Given the description of an element on the screen output the (x, y) to click on. 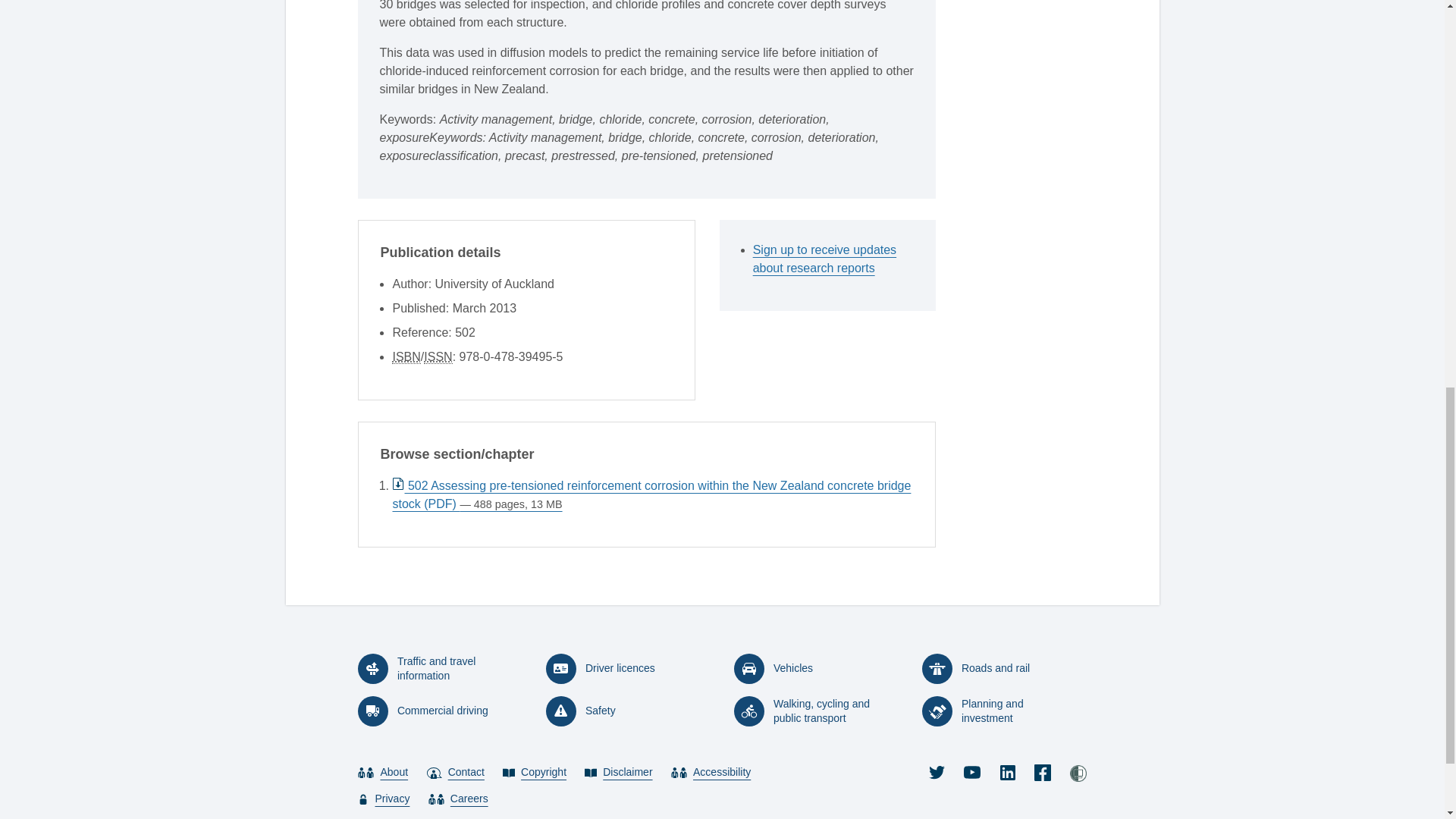
International Standard Book Number (405, 356)
Sign up to receive updates about research reports (833, 258)
International Standard Serial Number (437, 356)
